Given the description of an element on the screen output the (x, y) to click on. 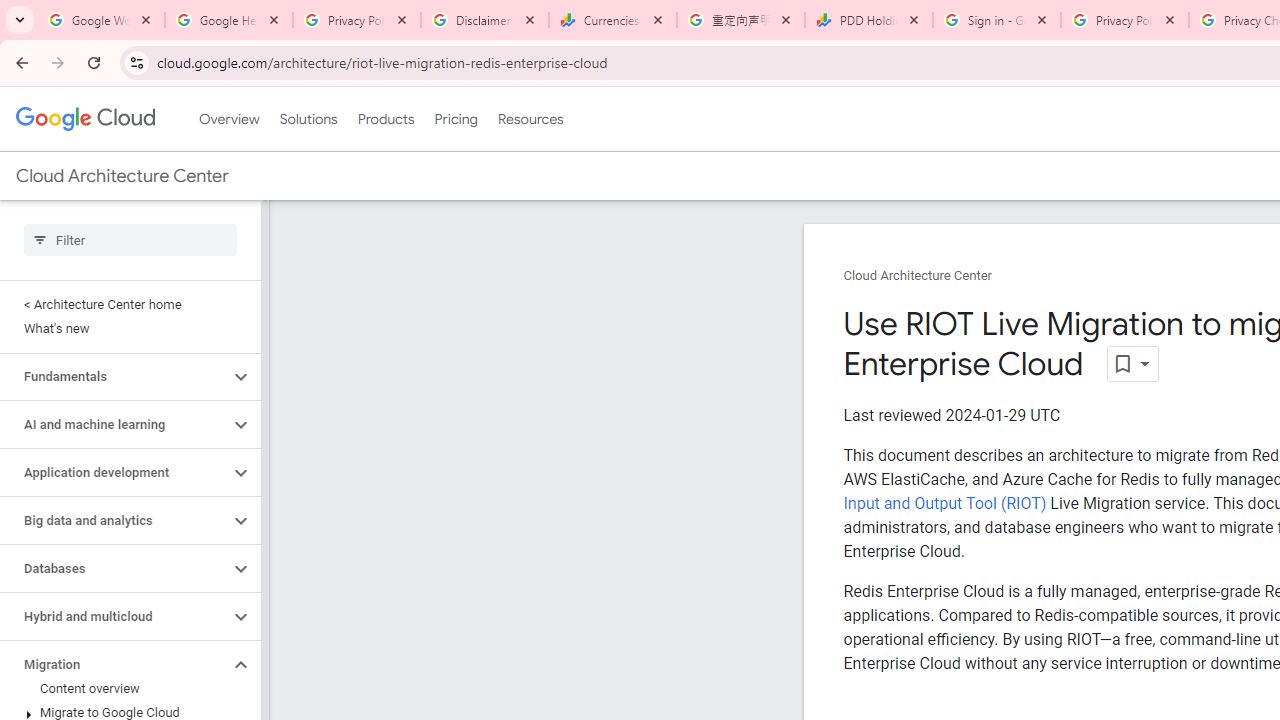
Solutions (308, 119)
PDD Holdings Inc - ADR (PDD) Price & News - Google Finance (869, 20)
Type to filter (130, 239)
Open dropdown (1131, 364)
Application development (114, 472)
Hybrid and multicloud (114, 616)
AI and machine learning (114, 425)
Big data and analytics (114, 520)
